Given the description of an element on the screen output the (x, y) to click on. 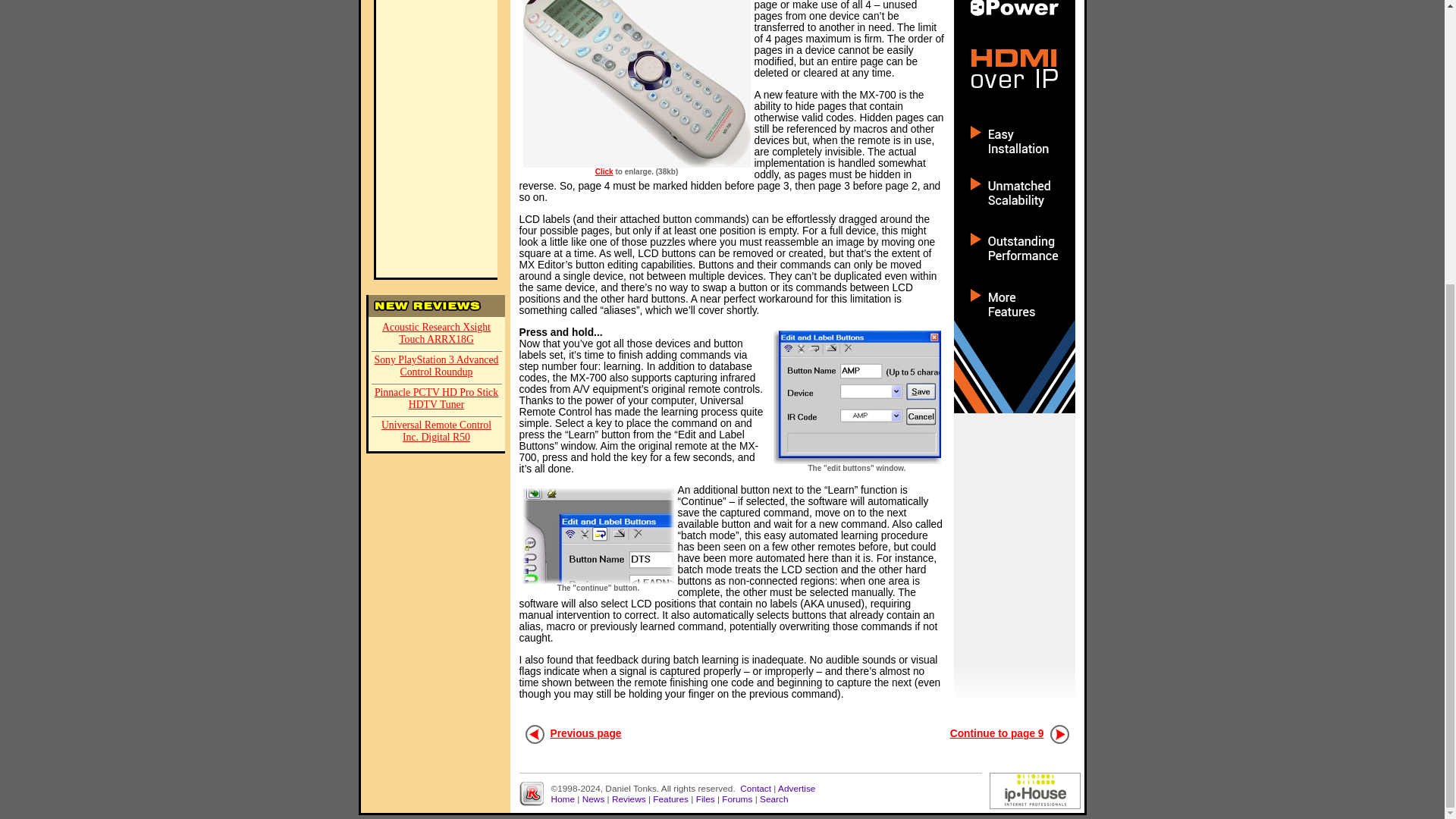
Click (603, 171)
Acoustic Research Xsight Touch ARRX18G (436, 334)
Pinnacle PCTV HD Pro Stick HDTV Tuner (436, 399)
Universal Remote Control Inc. Digital R50 (436, 431)
Sony PlayStation 3 Advanced Control Roundup (436, 367)
